Given the description of an element on the screen output the (x, y) to click on. 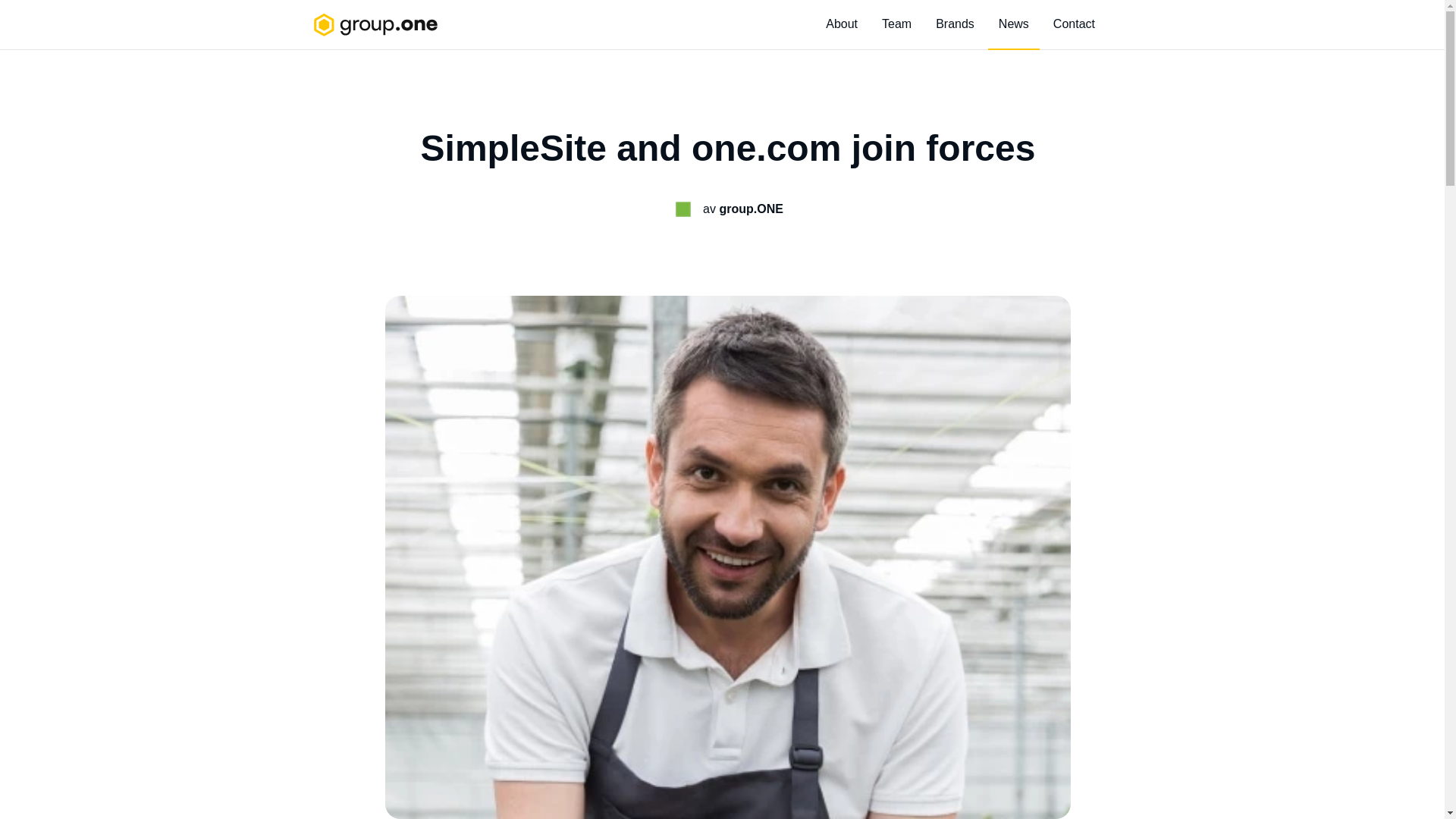
About (841, 23)
News (1013, 23)
Contact (1073, 23)
Team (895, 23)
Brands (954, 23)
